Given the description of an element on the screen output the (x, y) to click on. 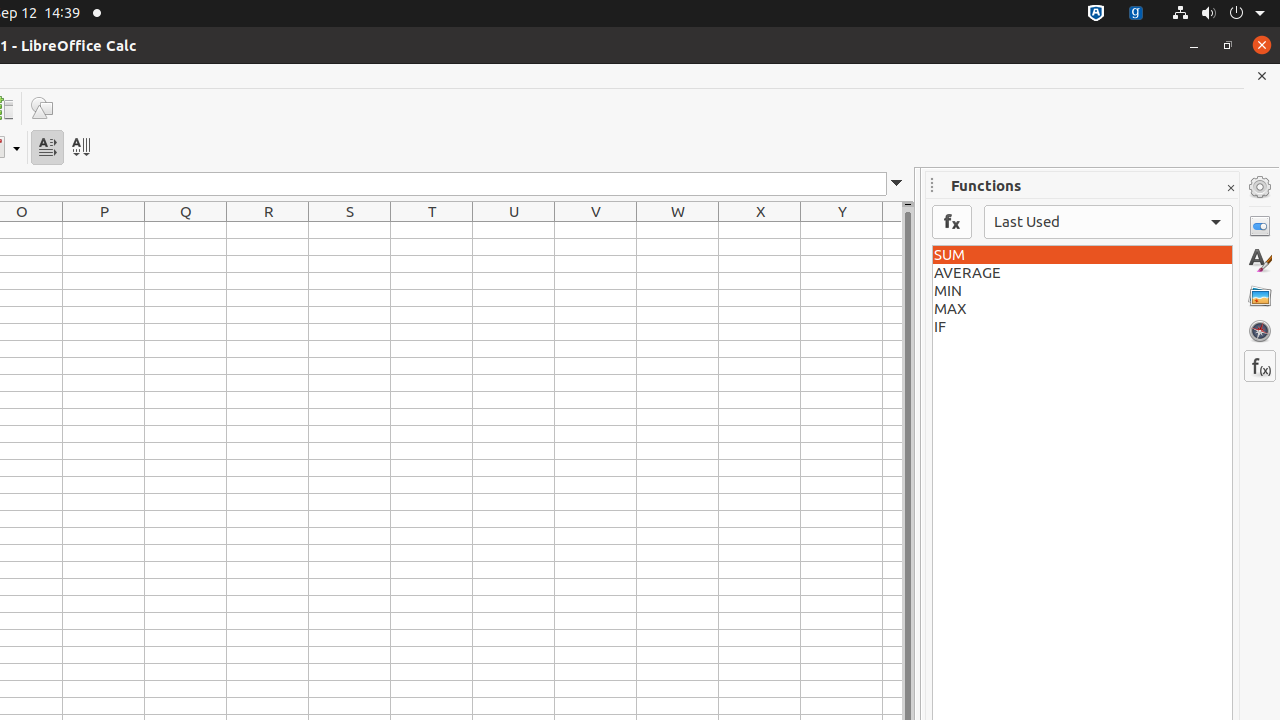
P1 Element type: table-cell (104, 230)
Expand Formula Bar Element type: push-button (897, 183)
Draw Functions Element type: toggle-button (41, 108)
AVERAGE Element type: list-item (1082, 273)
Close Sidebar Deck Element type: push-button (1230, 188)
